Given the description of an element on the screen output the (x, y) to click on. 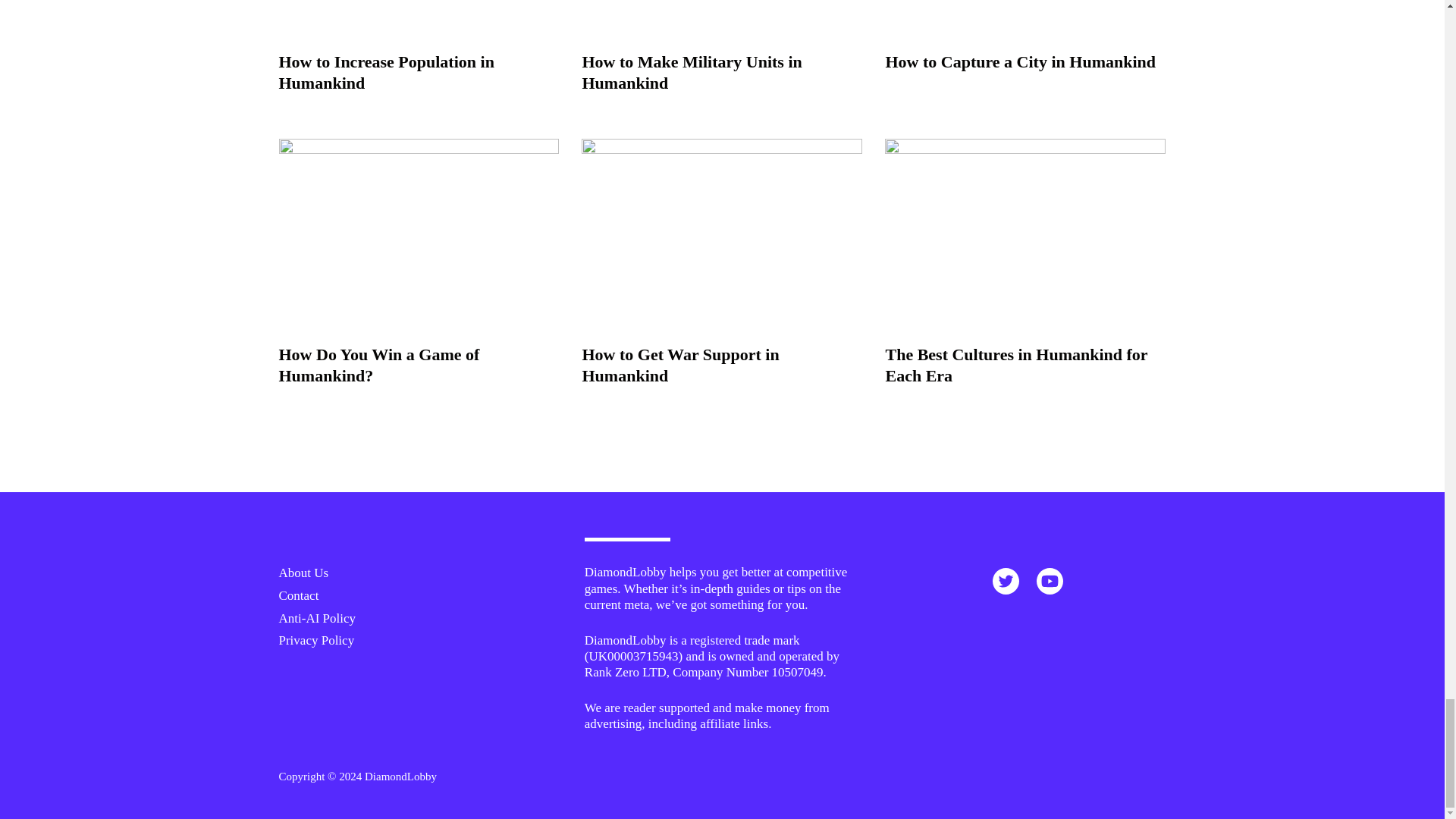
How to Make Military Units in Humankind (691, 72)
How to Increase Population in Humankind (387, 72)
